Given the description of an element on the screen output the (x, y) to click on. 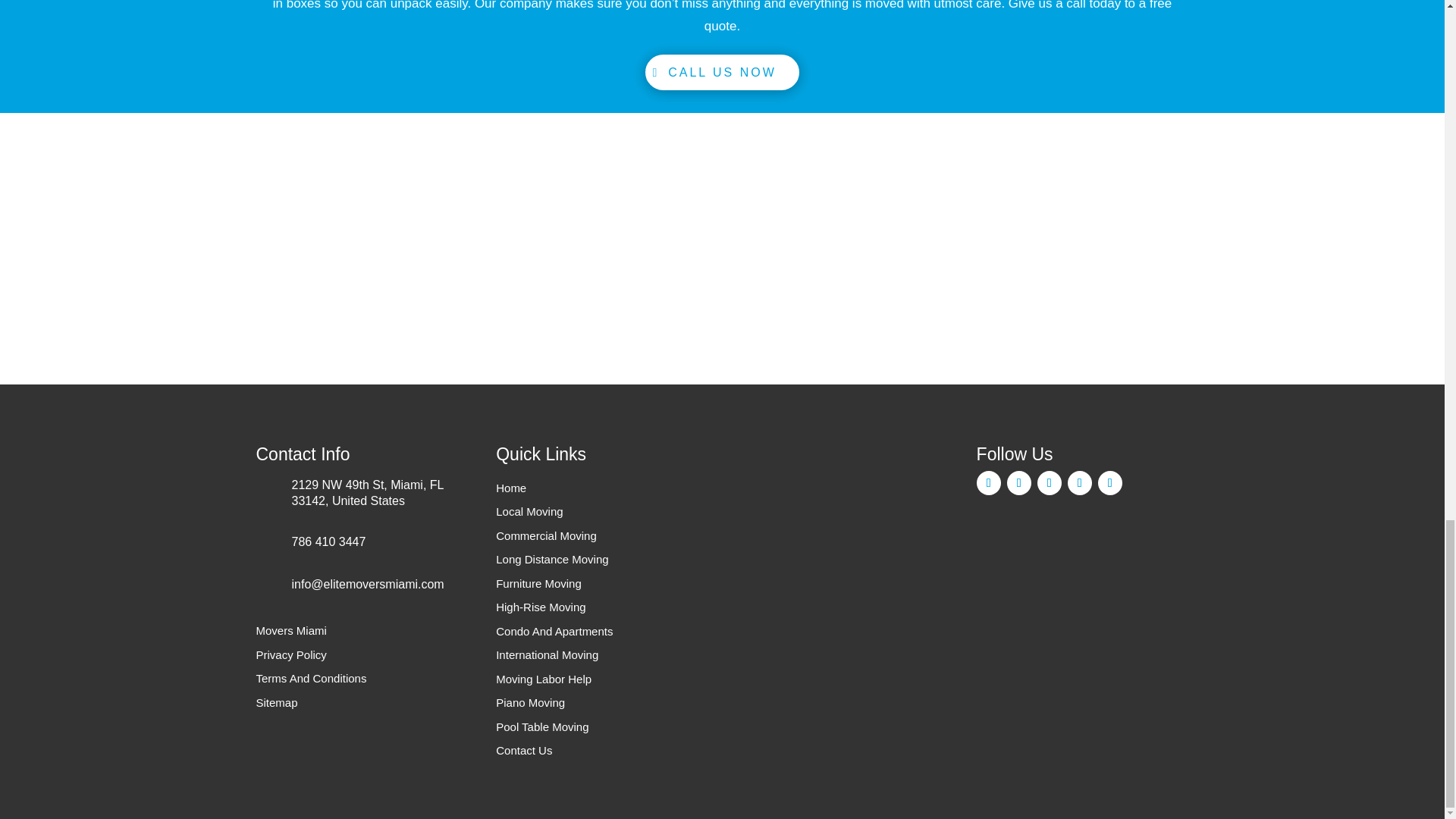
Follow on Instagram (1048, 482)
Follow on X (1018, 482)
Follow on Facebook (988, 482)
Follow on Pinterest (1109, 482)
Follow on Youtube (1079, 482)
